Given the description of an element on the screen output the (x, y) to click on. 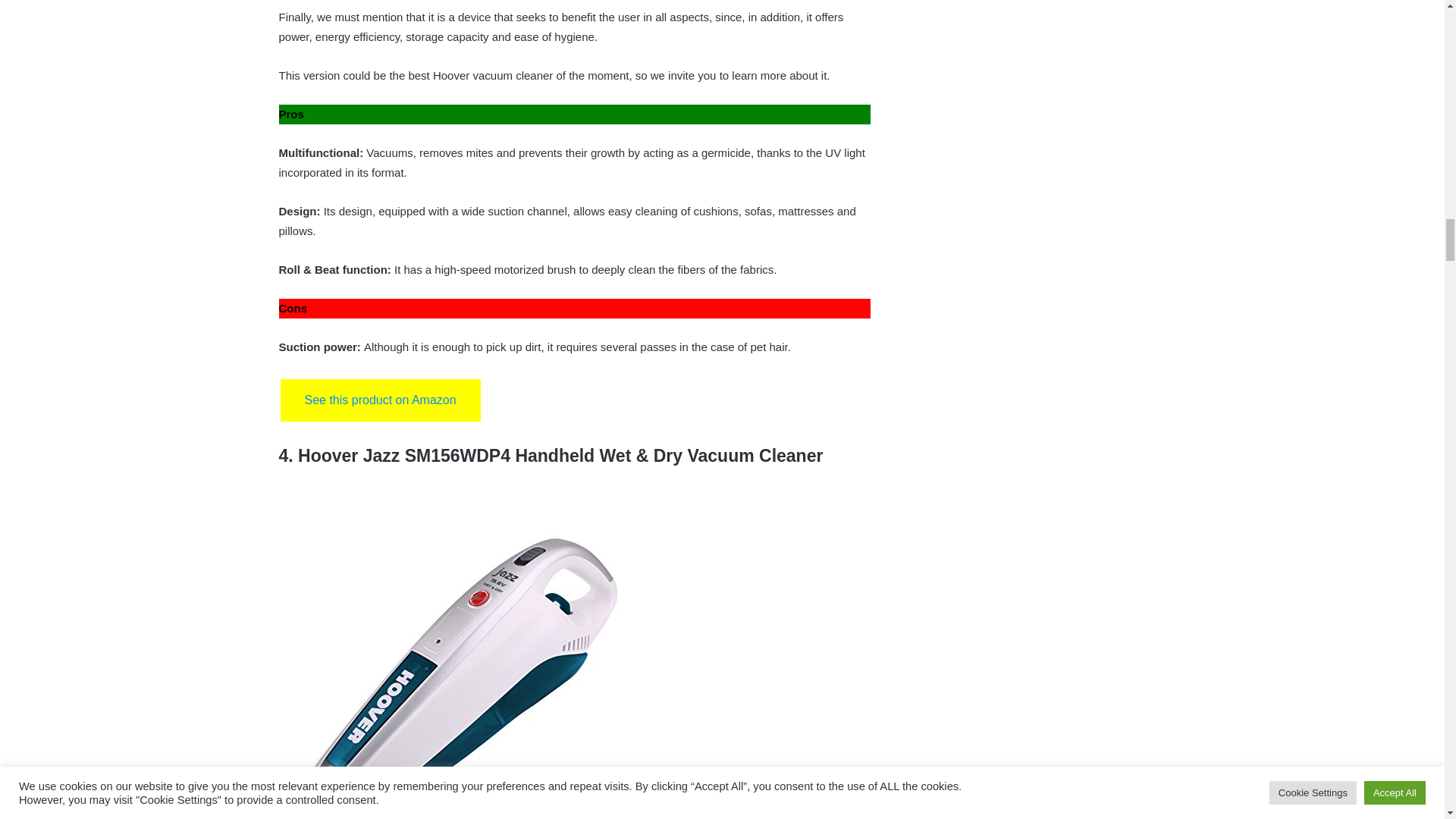
See this product on Amazon (380, 400)
